Given the description of an element on the screen output the (x, y) to click on. 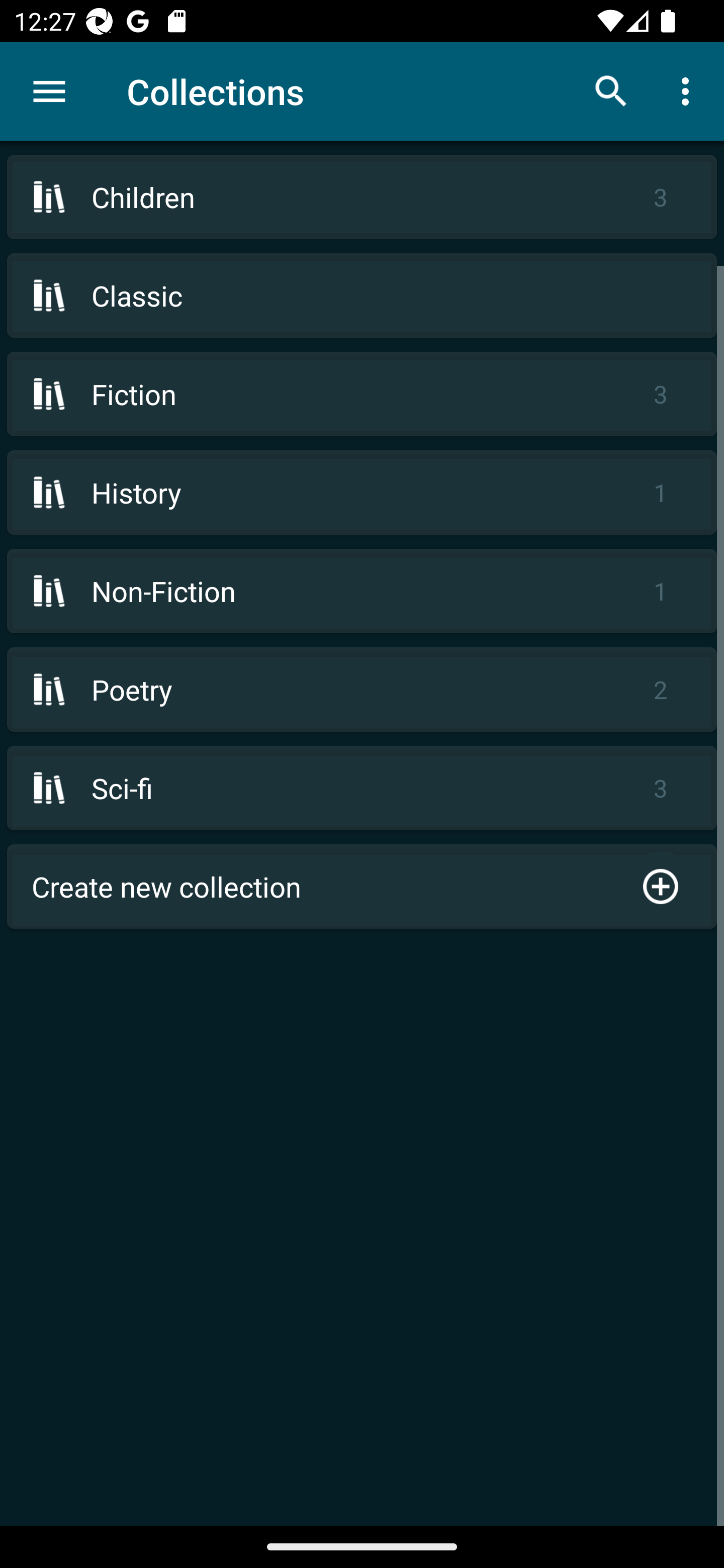
Menu (49, 91)
Search books & documents (611, 90)
More options (688, 90)
Children 3 (361, 197)
Classic (361, 295)
Fiction 3 (361, 393)
History 1 (361, 492)
Non-Fiction 1 (361, 590)
Poetry 2 (361, 689)
Sci-fi 3 (361, 787)
Create new collection (361, 885)
